Given the description of an element on the screen output the (x, y) to click on. 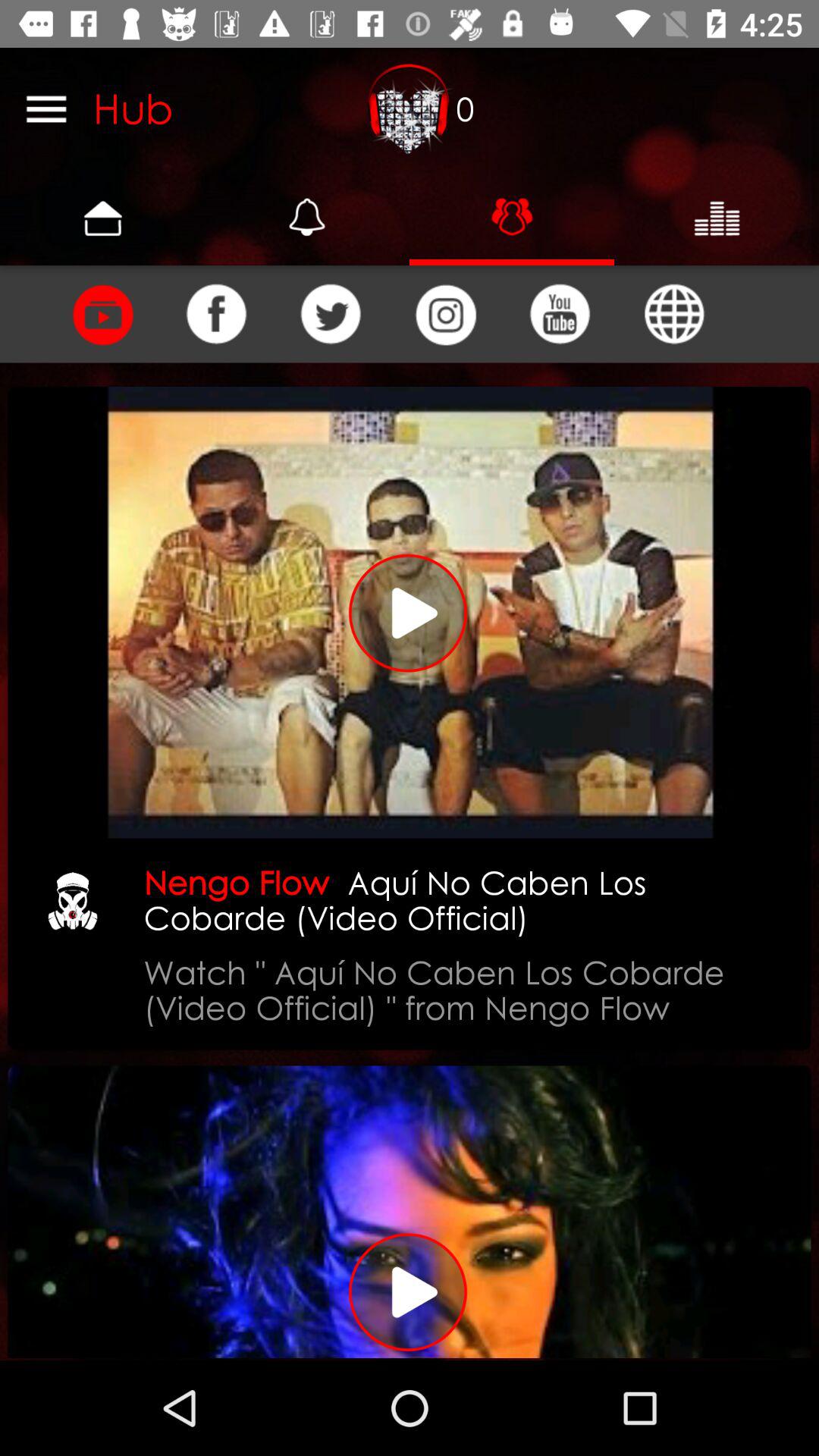
open navigation menu (45, 108)
